Given the description of an element on the screen output the (x, y) to click on. 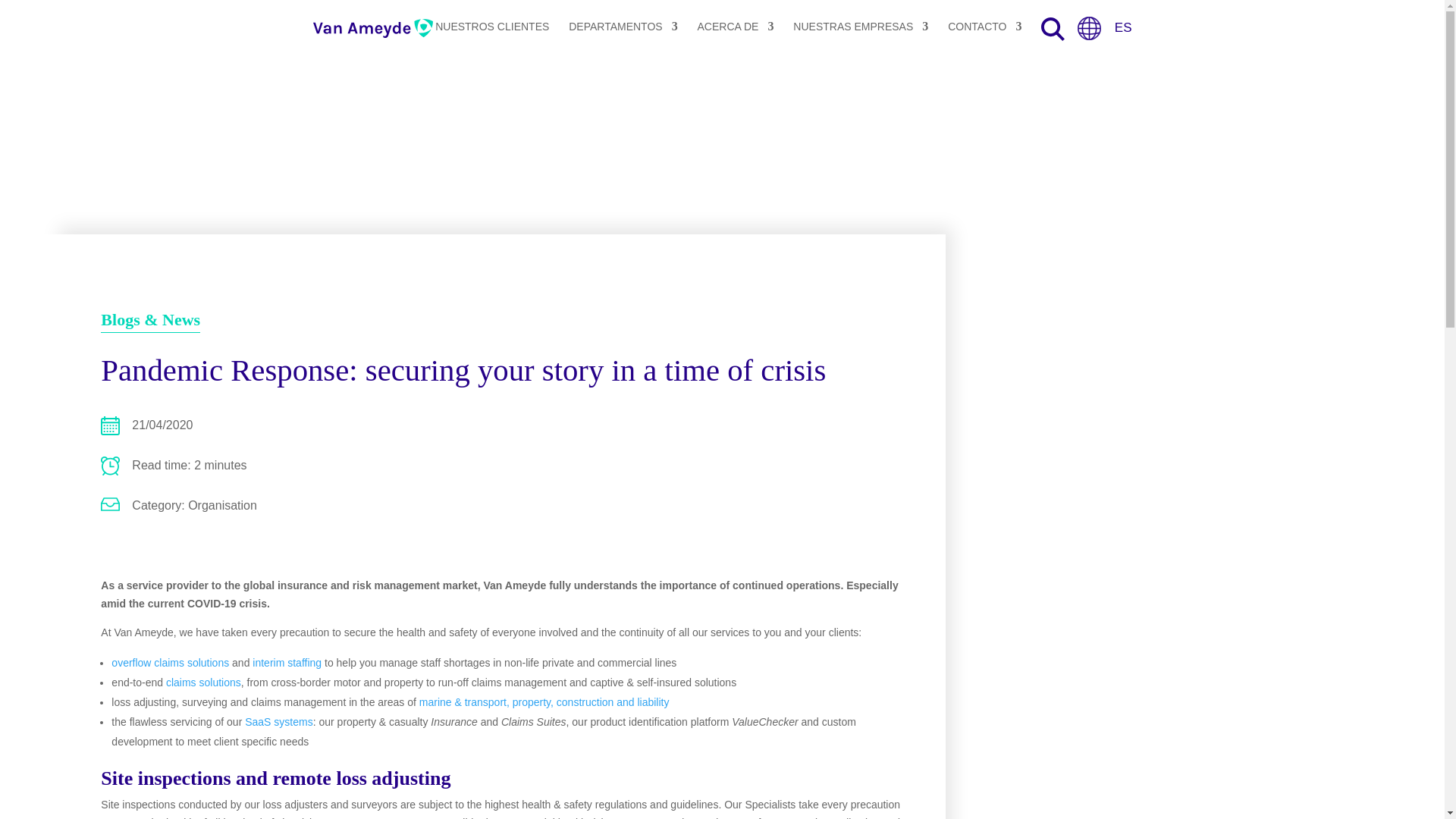
CONTACTO (984, 28)
NUESTRAS EMPRESAS (860, 28)
NUESTROS CLIENTES (491, 28)
DEPARTAMENTOS (623, 28)
ACERCA DE (735, 28)
